Given the description of an element on the screen output the (x, y) to click on. 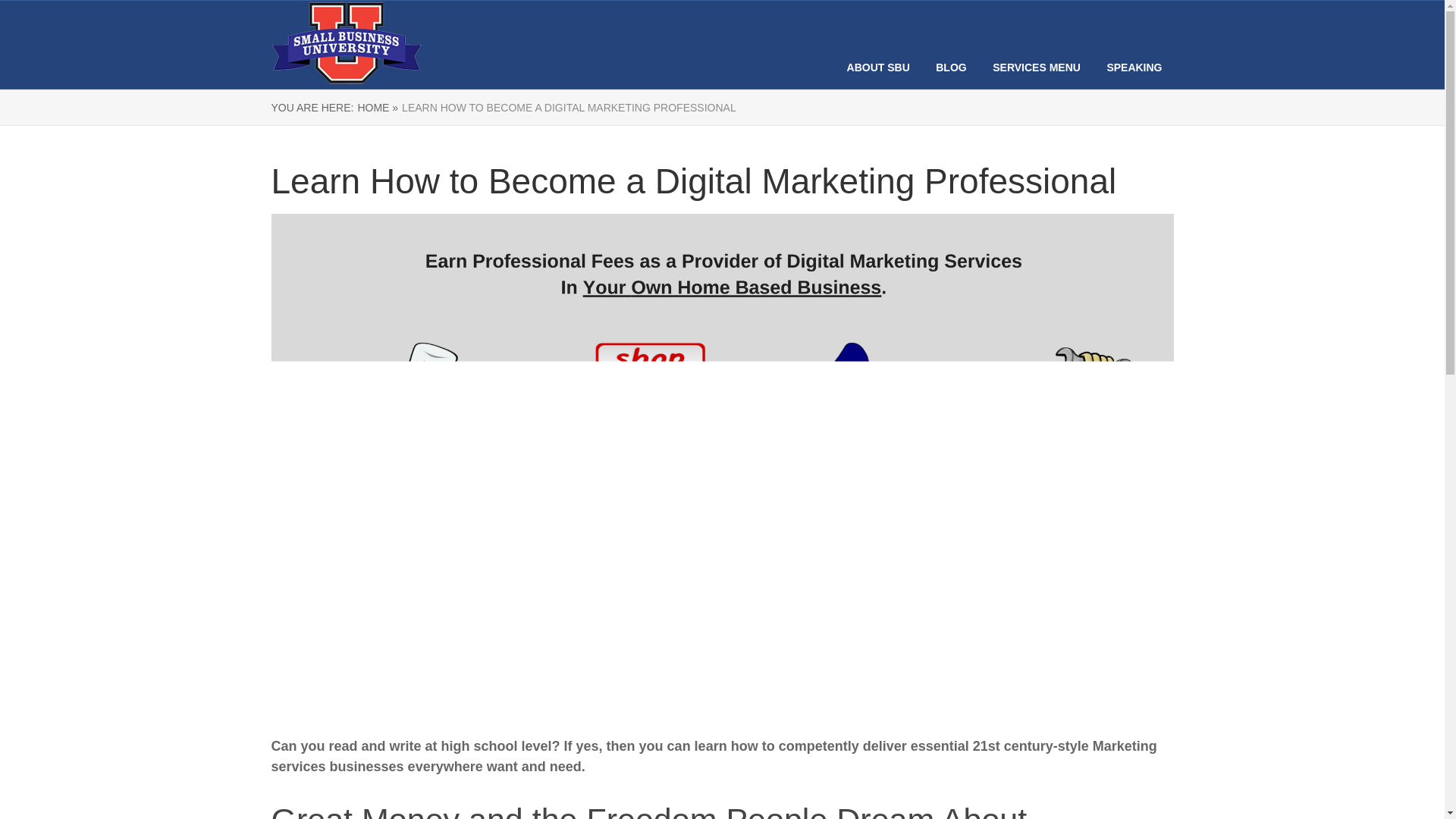
BLOG (951, 67)
SERVICES MENU (1036, 67)
ABOUT SBU (878, 67)
SPEAKING (1133, 67)
